Given the description of an element on the screen output the (x, y) to click on. 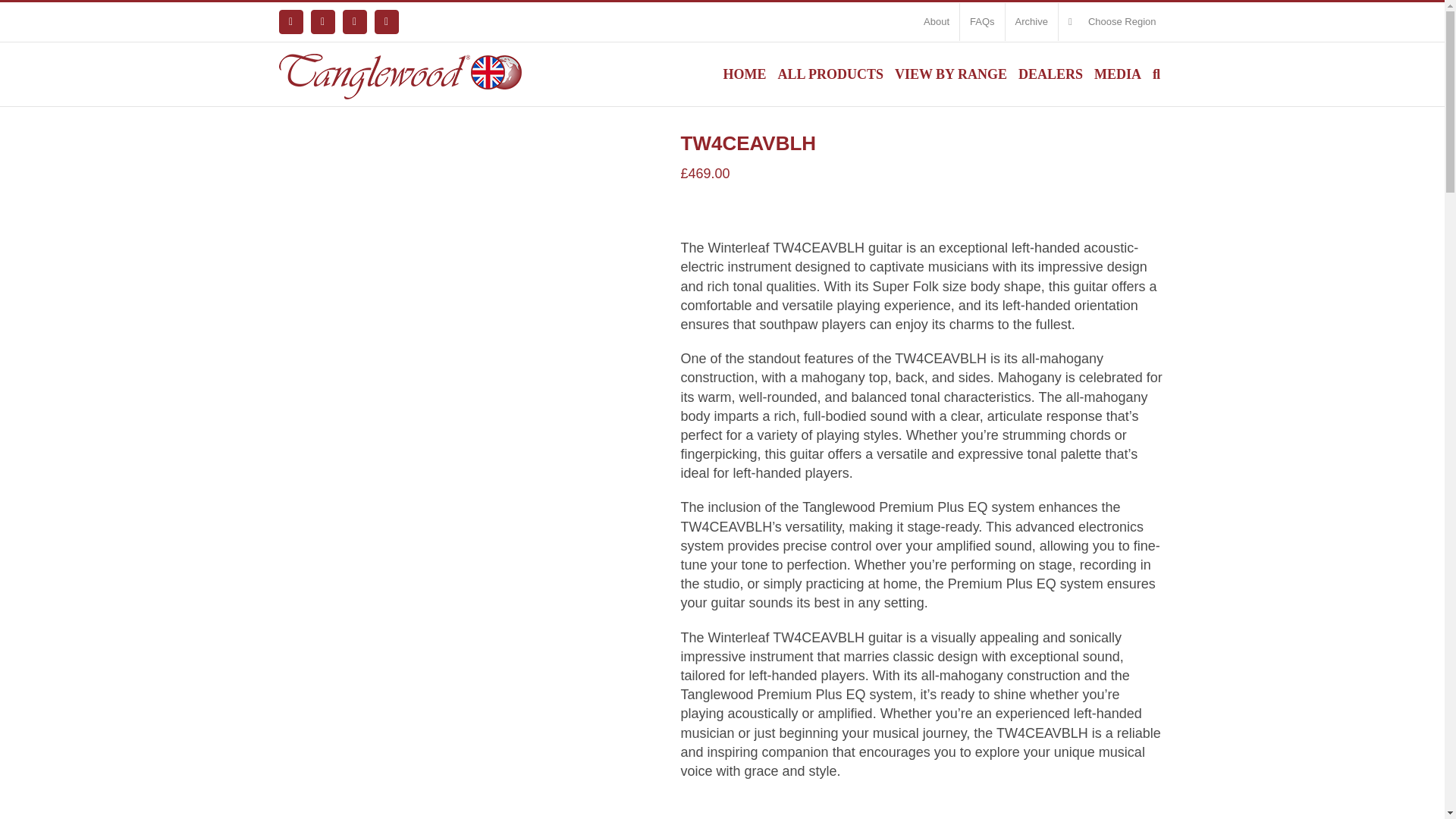
About (936, 21)
Instagram (354, 21)
Twitter (322, 21)
Instagram (354, 21)
Facebook (290, 21)
Archive (1032, 21)
Choose Region (1112, 21)
VIEW BY RANGE (949, 74)
YouTube (386, 21)
Twitter (322, 21)
YouTube (386, 21)
Facebook (290, 21)
FAQs (981, 21)
ALL PRODUCTS (830, 74)
